Given the description of an element on the screen output the (x, y) to click on. 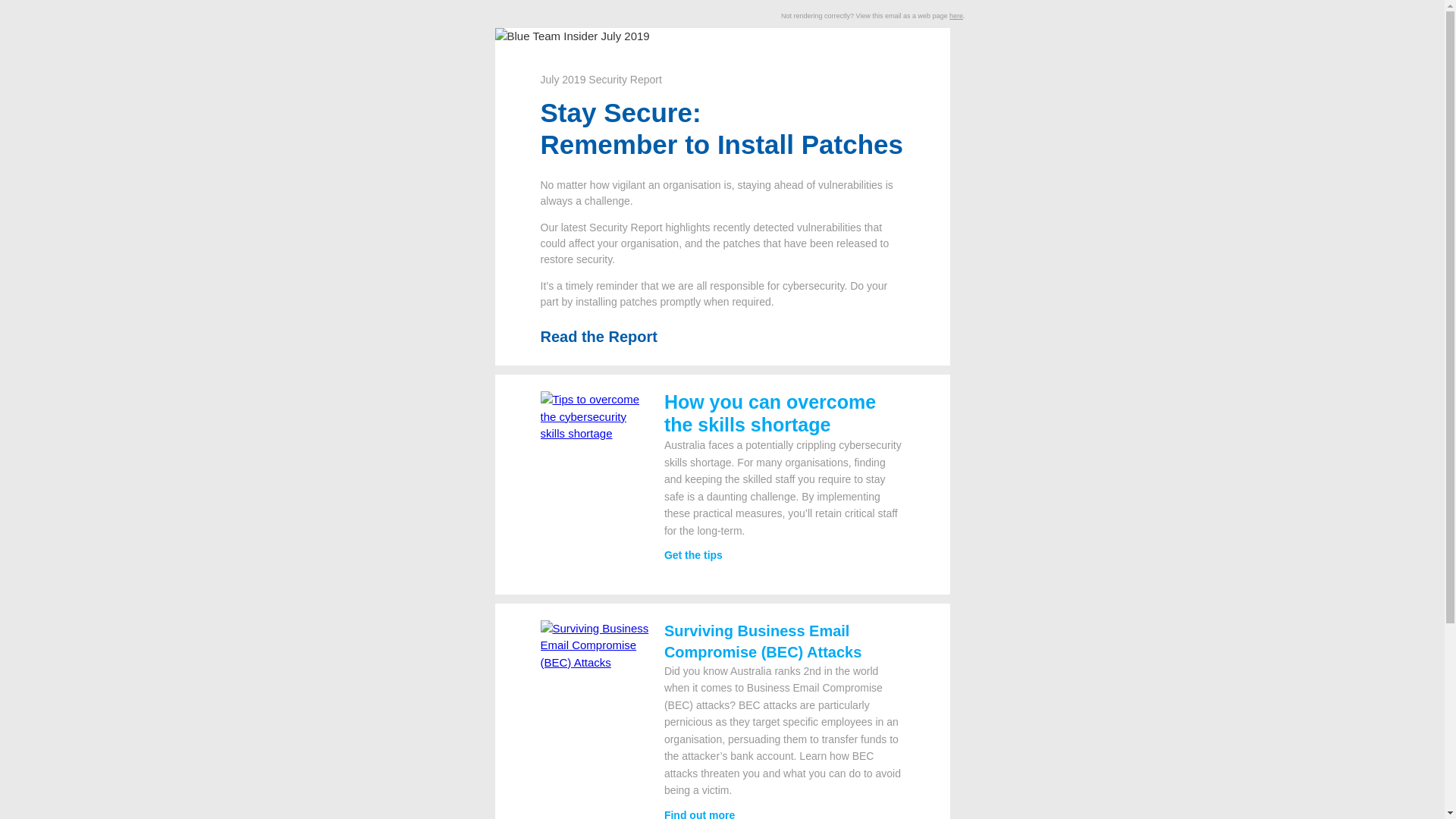
Blue Team Insider July 2019 Element type: hover (571, 36)
here Element type: text (956, 15)
Read the Report Element type: text (597, 336)
Tips to overcome the cybersecurity skills shortage Element type: hover (596, 416)
Get the tips Element type: text (693, 555)
Surviving Business Email Compromise (BEC) Attacks Element type: hover (596, 645)
